Given the description of an element on the screen output the (x, y) to click on. 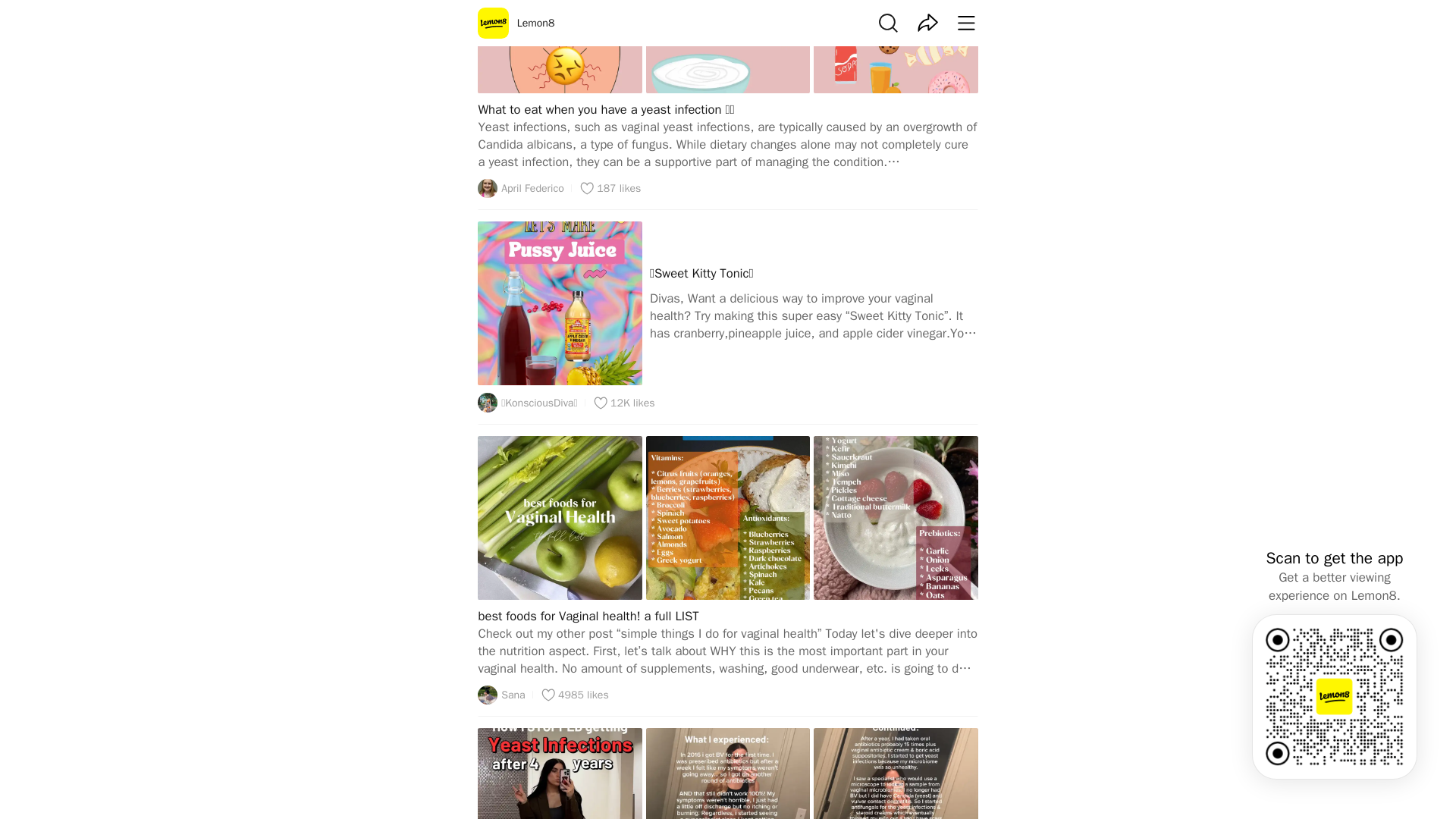
Sana (500, 695)
April Federico (520, 189)
